Given the description of an element on the screen output the (x, y) to click on. 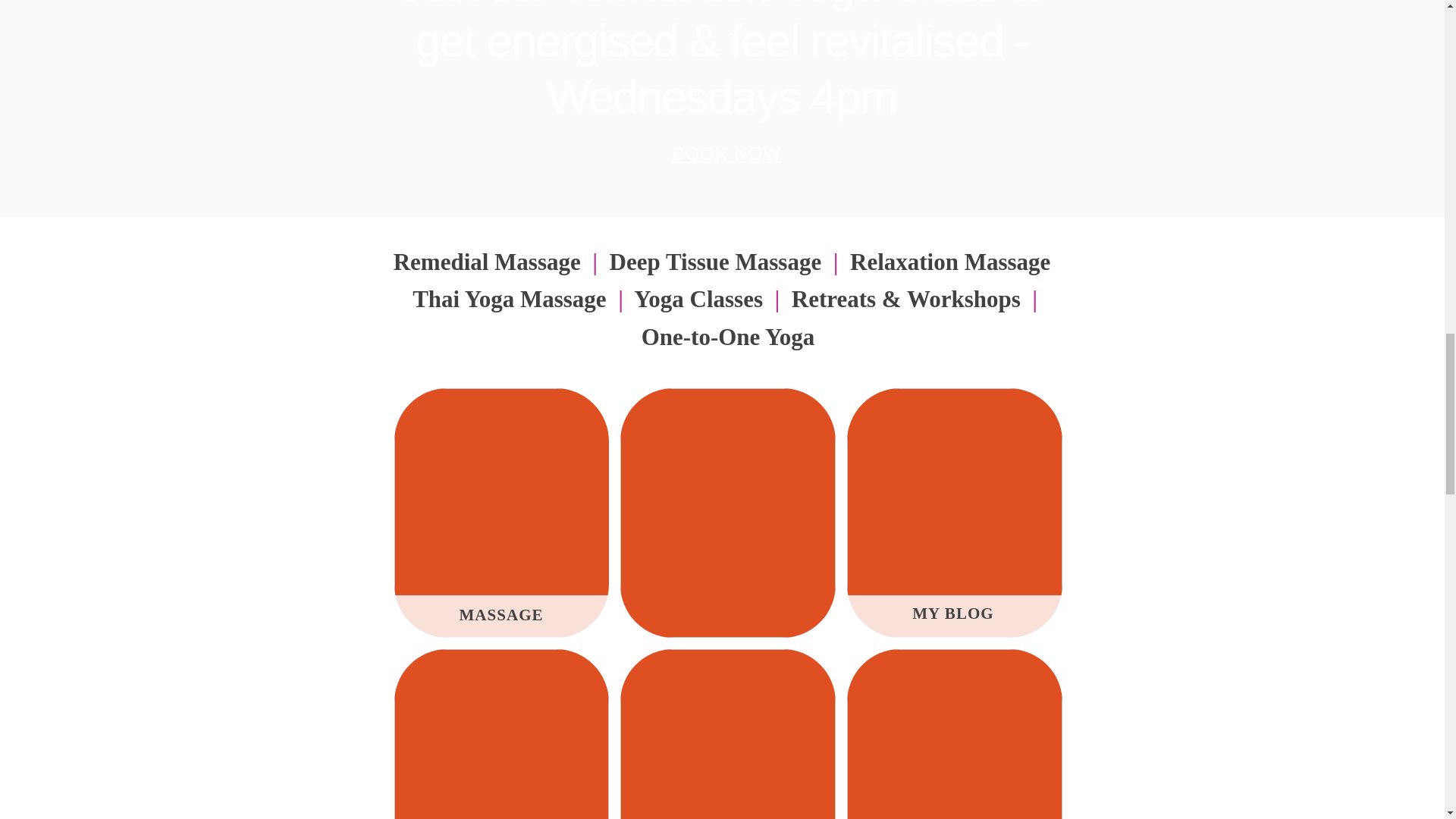
MASSAGE (500, 615)
BOOK NOW (728, 153)
MY BLOG (953, 613)
